Given the description of an element on the screen output the (x, y) to click on. 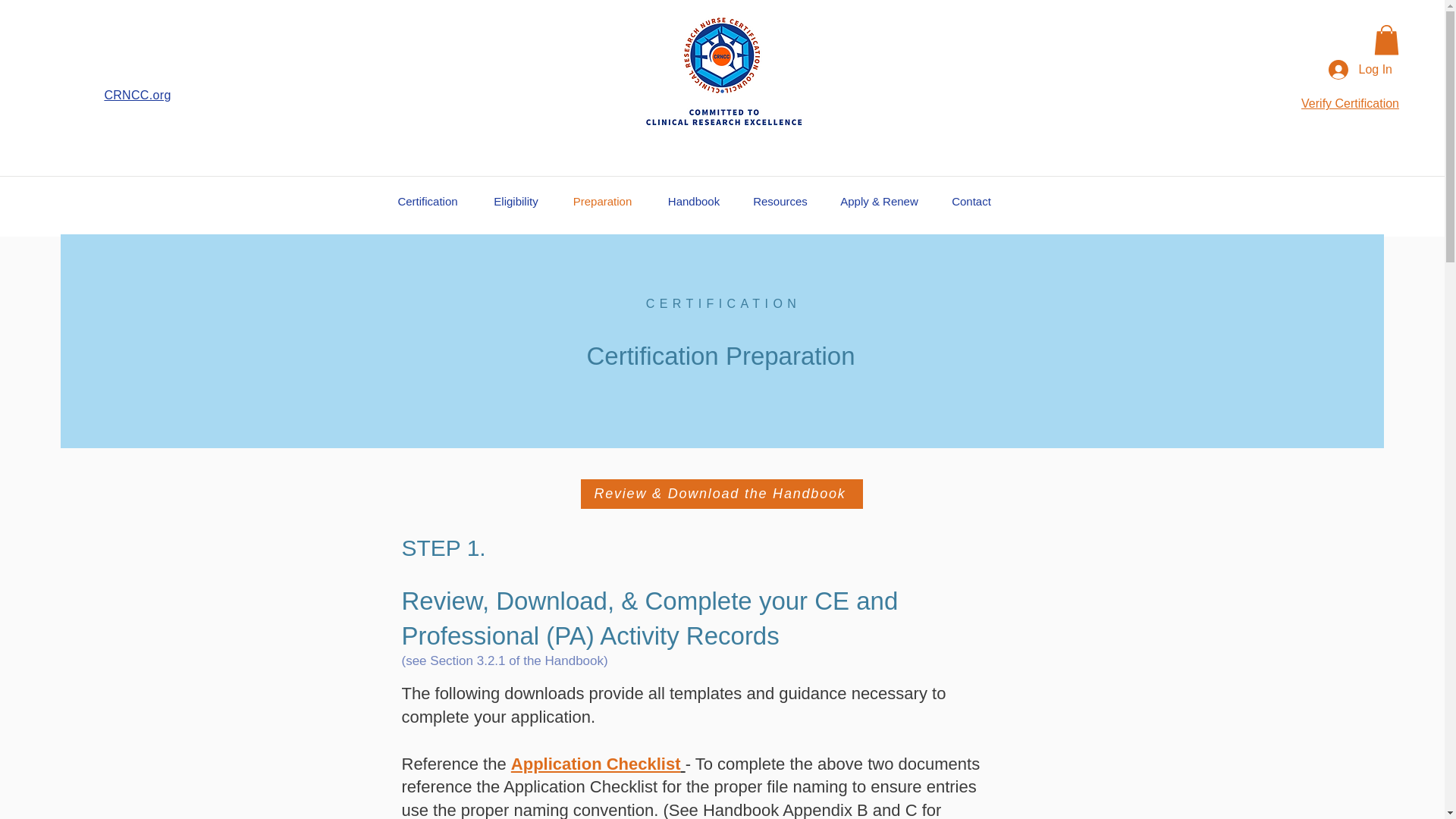
Application Checklist  (598, 763)
CRNCC.org (136, 94)
Preparation (601, 201)
Eligibility (515, 201)
Certification (428, 201)
Verify Certification (1350, 103)
Handbook (693, 201)
Resources (780, 201)
Log In (1360, 69)
Contact (970, 201)
